Given the description of an element on the screen output the (x, y) to click on. 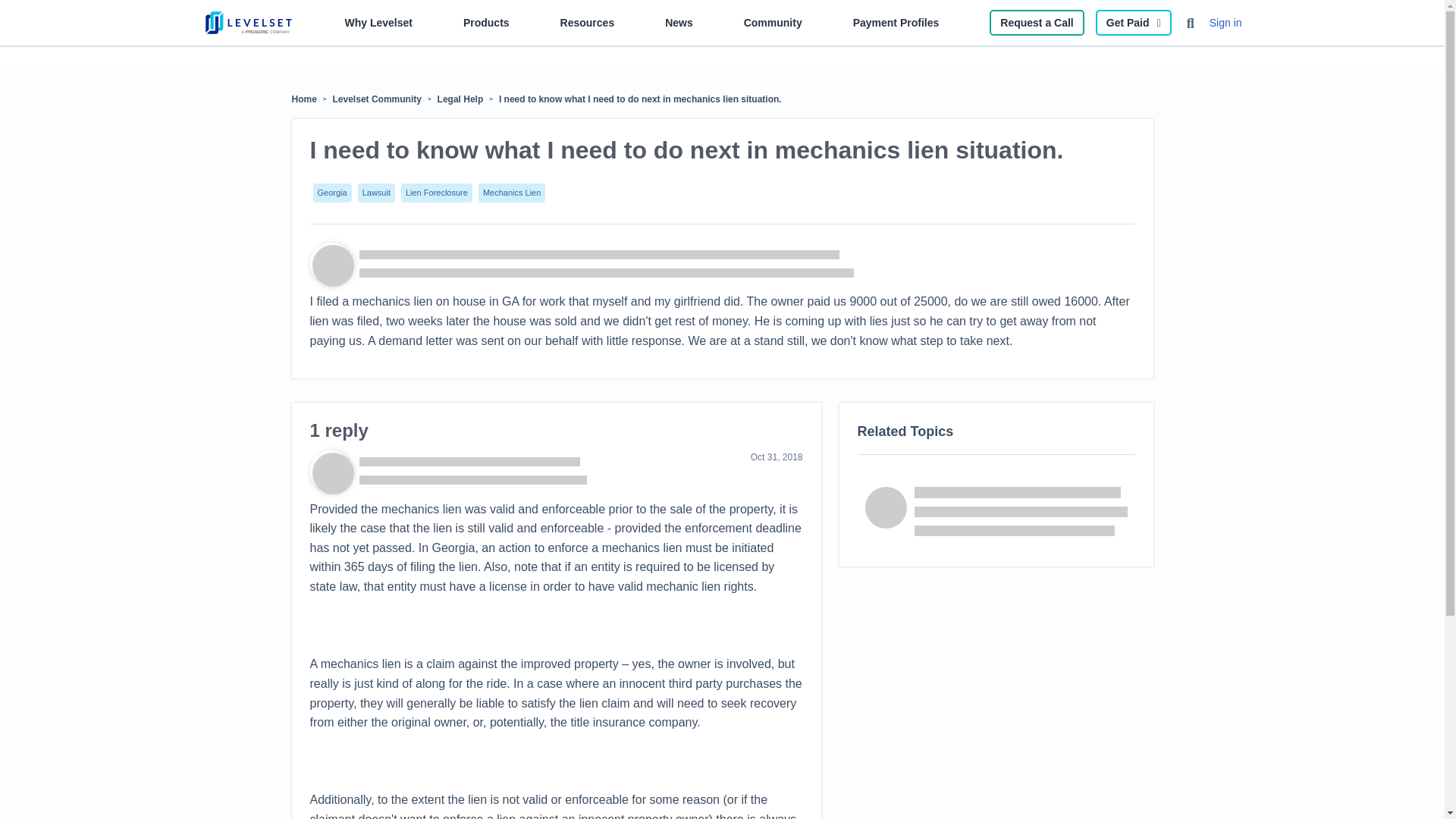
Why Levelset (377, 25)
Products (486, 25)
Resources (587, 25)
